Given the description of an element on the screen output the (x, y) to click on. 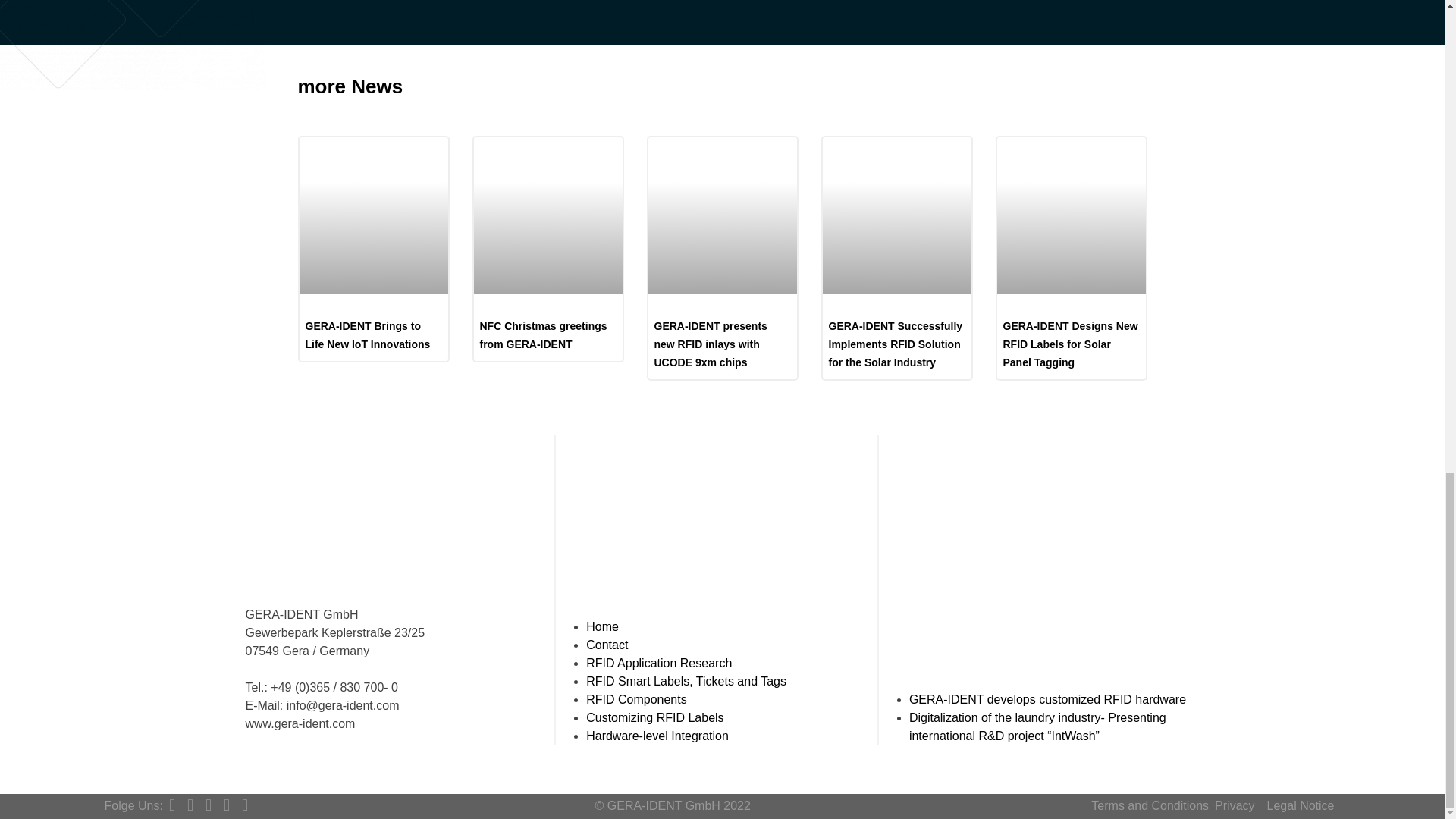
Wir im Linkedin (171, 805)
GERA-IDENT presents new RFID inlays with UCODE 9xm chips (710, 344)
GERA-IDENT Brings to Life New IoT Innovations (366, 335)
bg (132, 45)
NFC Christmas greetings from GERA-IDENT (543, 335)
